Given the description of an element on the screen output the (x, y) to click on. 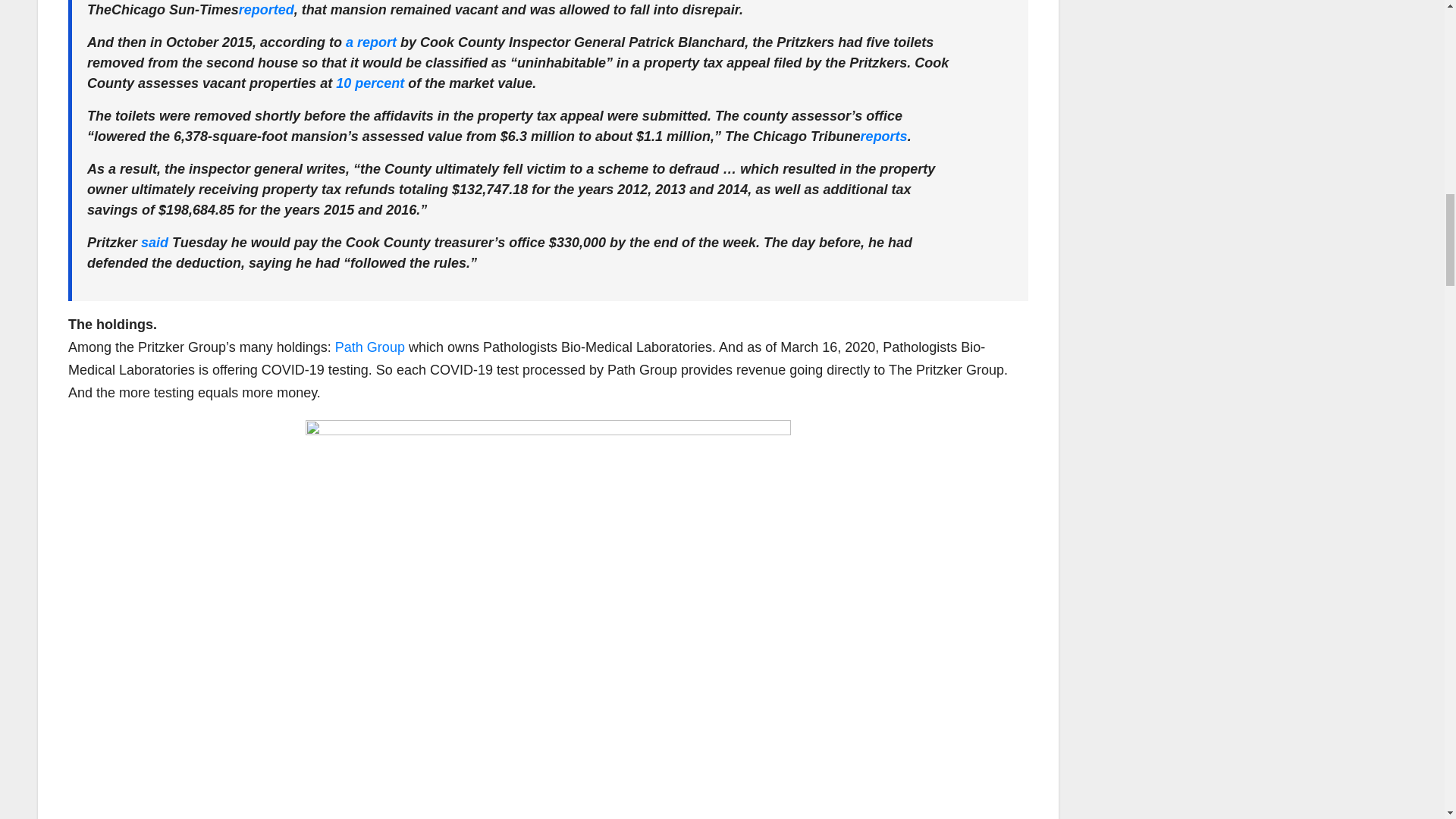
reported (266, 9)
a report (371, 42)
said (154, 242)
10 percent (370, 83)
reports (883, 136)
Path Group (369, 346)
